Given the description of an element on the screen output the (x, y) to click on. 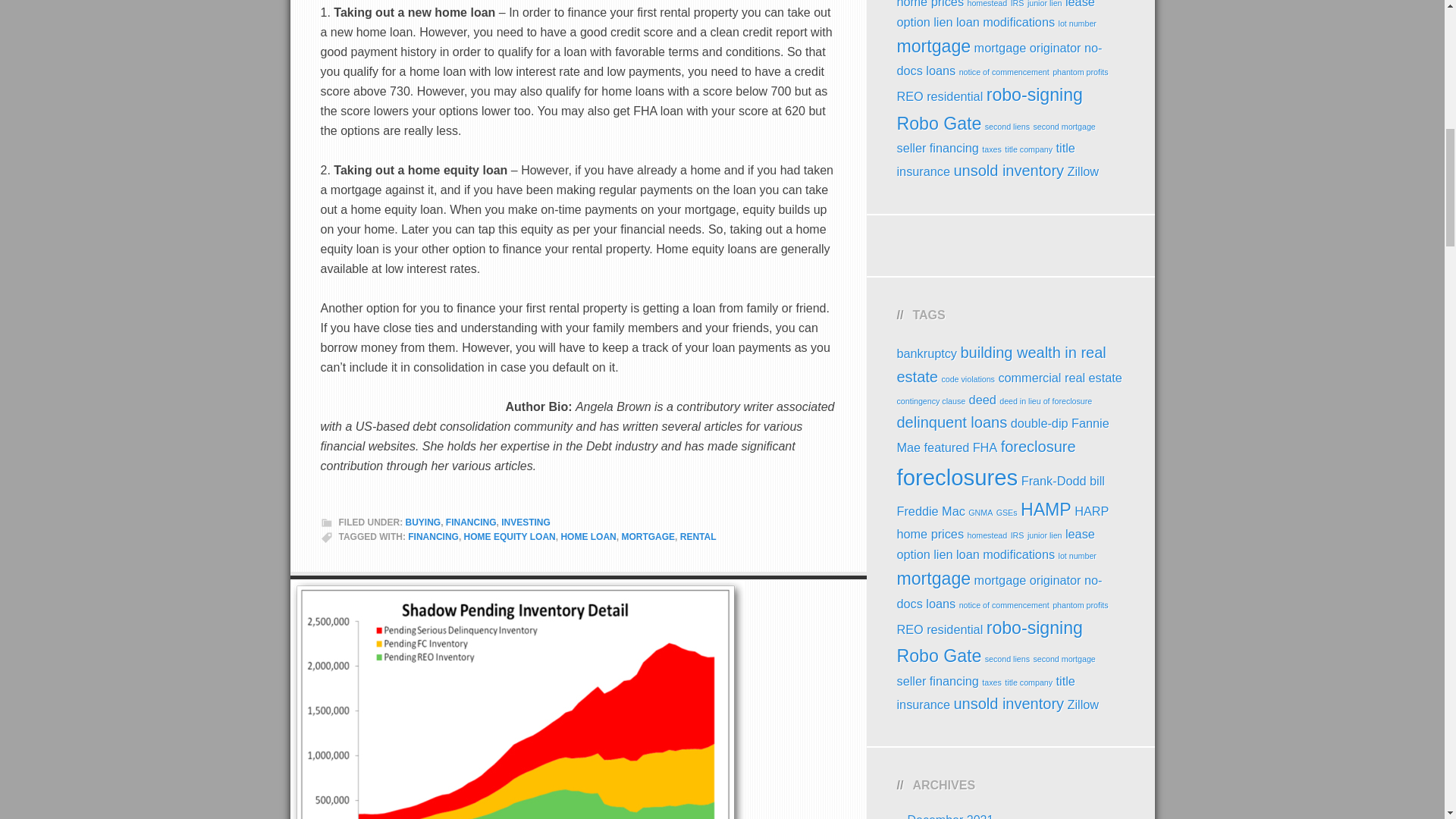
FINANCING (470, 521)
RENTAL (697, 536)
HOME EQUITY LOAN (510, 536)
INVESTING (525, 521)
HOME LOAN (587, 536)
MORTGAGE (648, 536)
BUYING (422, 521)
FINANCING (432, 536)
